Given the description of an element on the screen output the (x, y) to click on. 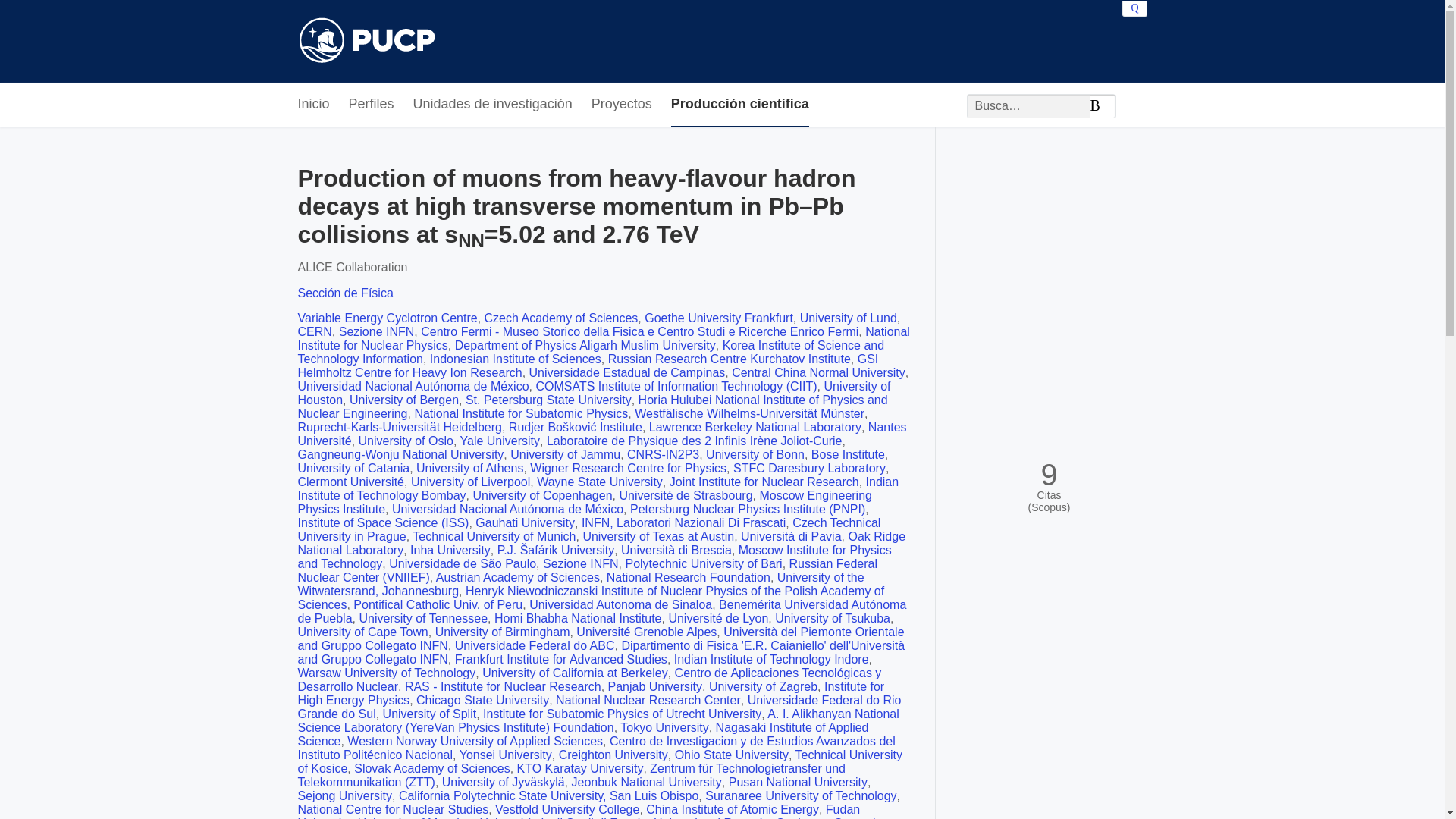
University of Houston (593, 393)
National Institute for Subatomic Physics (520, 413)
Korea Institute of Science and Technology Information (590, 352)
Department of Physics Aligarh Muslim University (585, 345)
Variable Energy Cyclotron Centre (387, 318)
Perfiles (371, 104)
Universidade Estadual de Campinas (627, 372)
University of Lund (847, 318)
Goethe University Frankfurt (719, 318)
Central China Normal University (818, 372)
University of Bergen (403, 399)
Indonesian Institute of Sciences (515, 358)
CERN (314, 331)
St. Petersburg State University (548, 399)
